Given the description of an element on the screen output the (x, y) to click on. 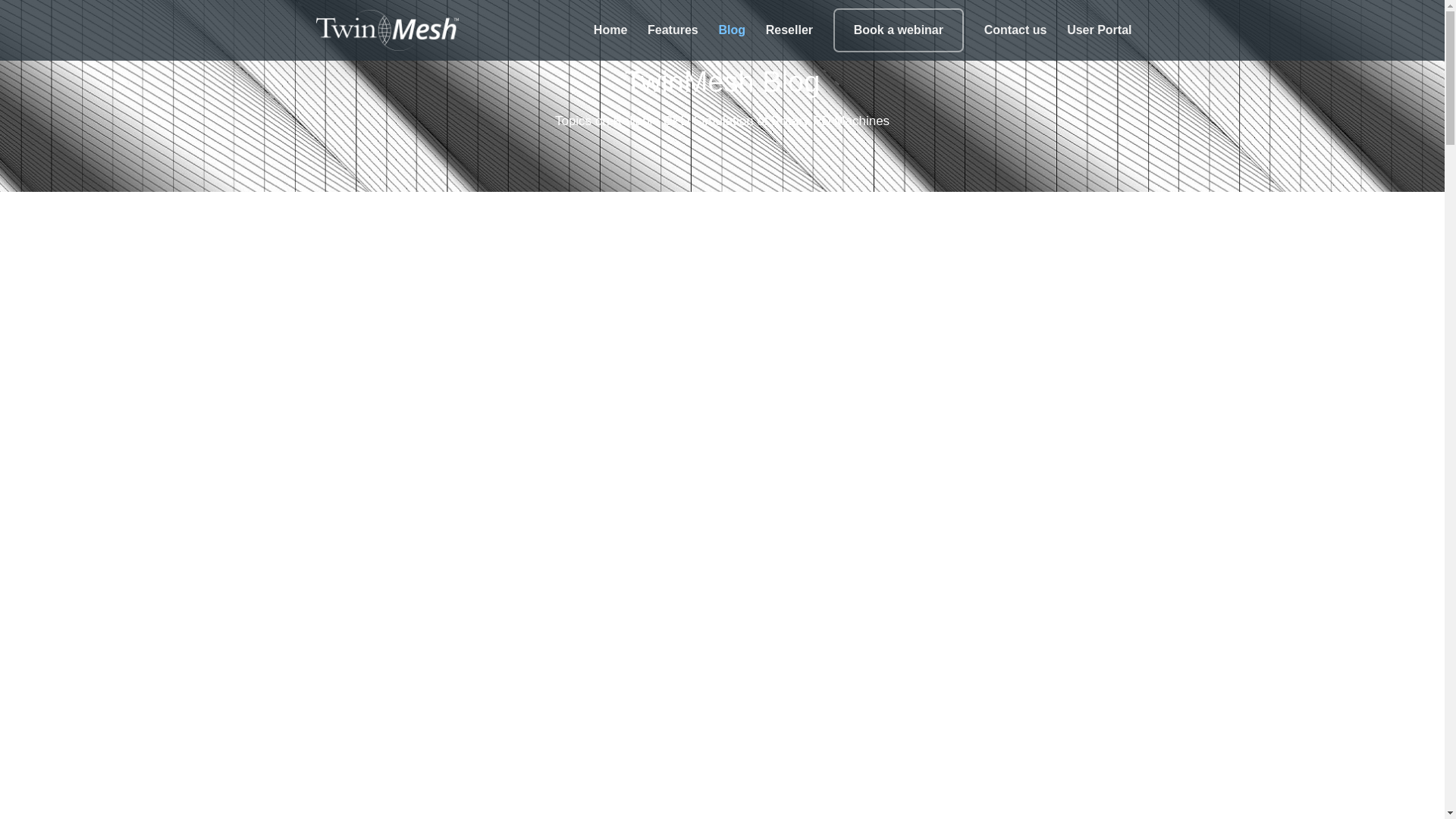
Book a webinar (897, 30)
User Portal (1099, 42)
Features (672, 42)
Reseller (788, 42)
Contact us (1015, 42)
Home (610, 42)
